Given the description of an element on the screen output the (x, y) to click on. 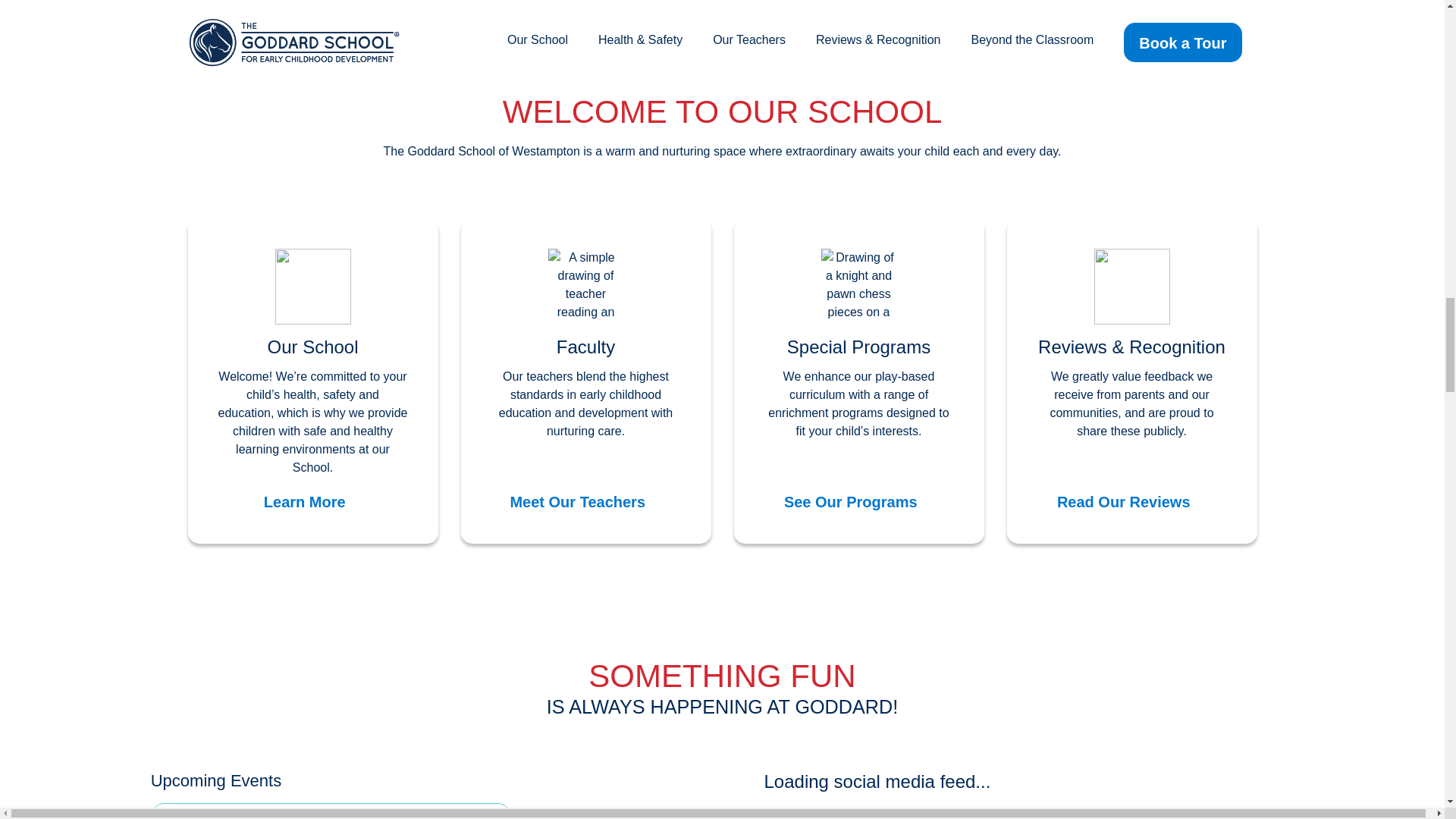
Read Our Reviews (1132, 500)
See Our Programs (858, 500)
Meet Our Teachers (585, 500)
Learn More (312, 500)
